Given the description of an element on the screen output the (x, y) to click on. 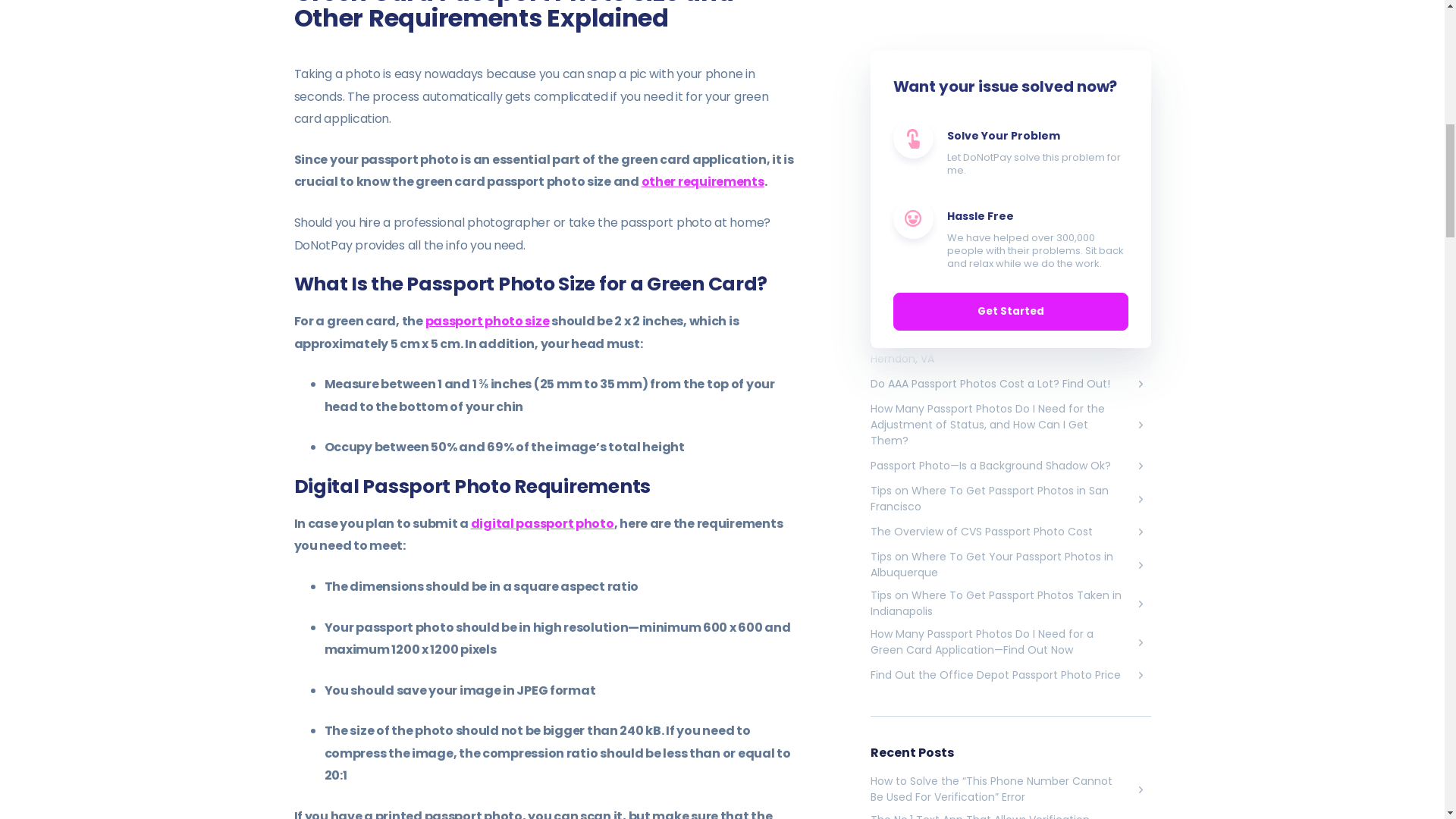
other requirements (703, 181)
passport photo size (487, 321)
digital passport photo (542, 523)
